Given the description of an element on the screen output the (x, y) to click on. 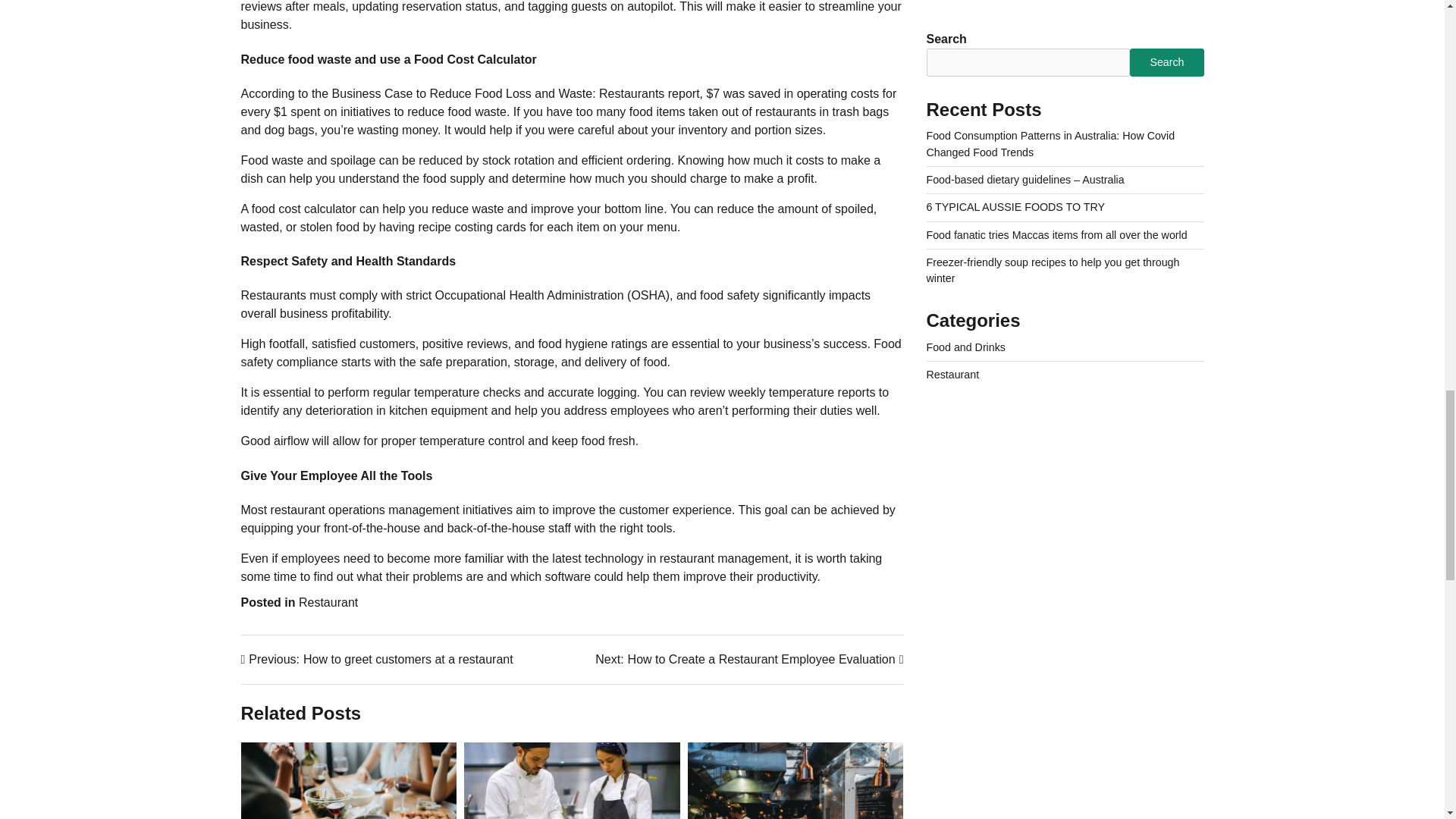
Restaurant (377, 659)
